Given the description of an element on the screen output the (x, y) to click on. 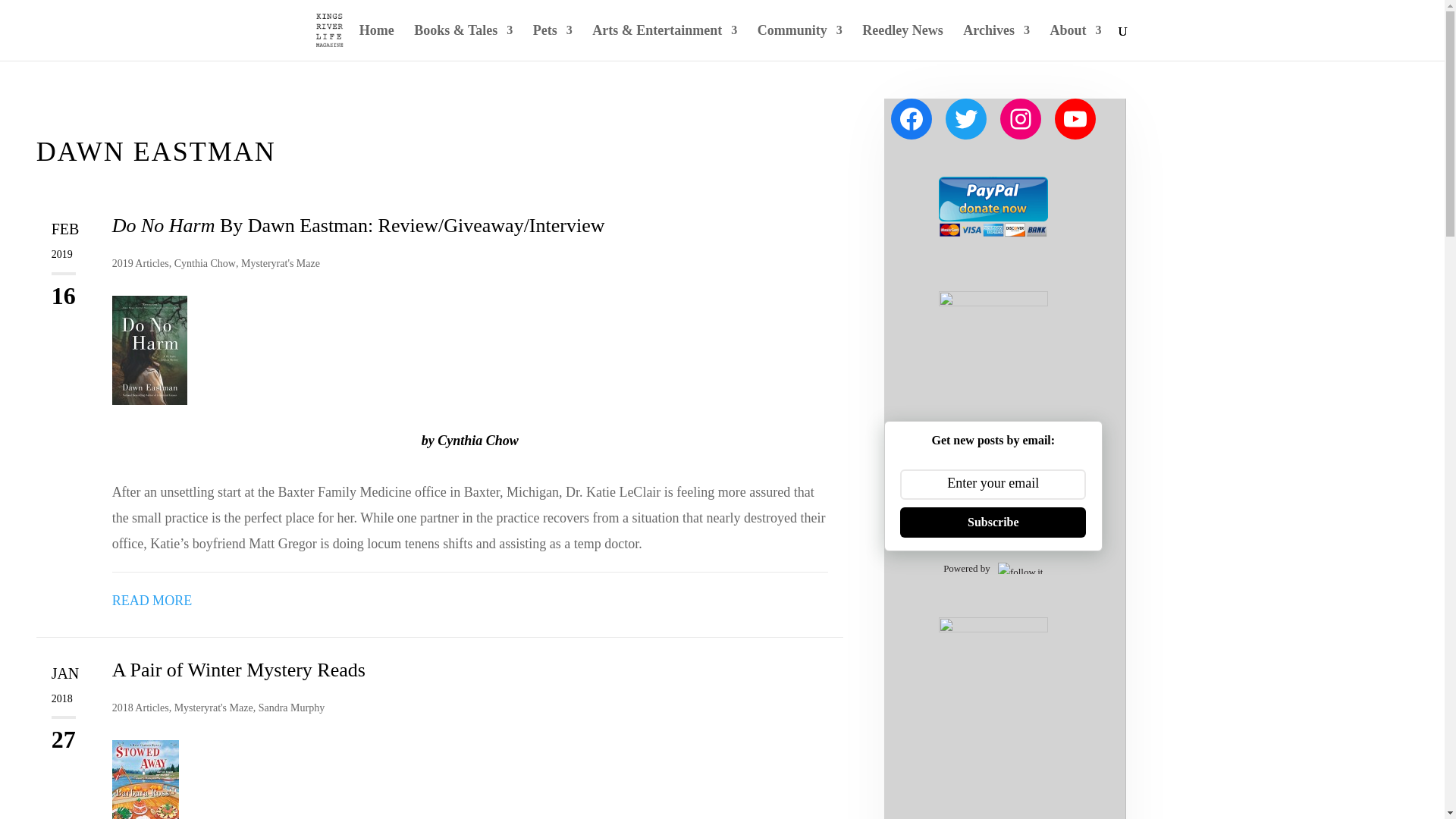
Pets (552, 42)
Community (800, 42)
Reedley News (901, 42)
Home (376, 42)
Archives (995, 42)
